Given the description of an element on the screen output the (x, y) to click on. 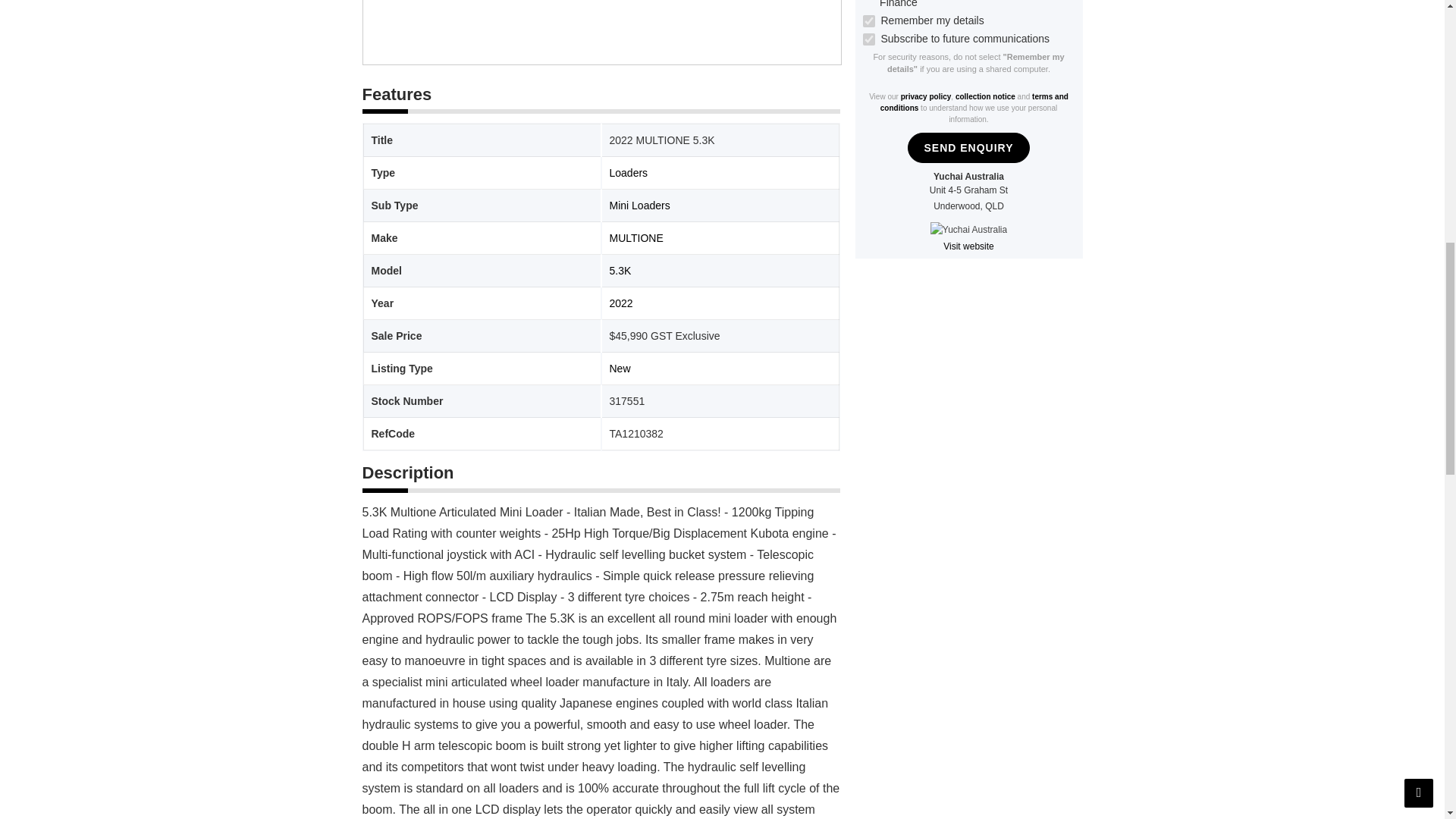
1 (869, 21)
1 (869, 39)
